Given the description of an element on the screen output the (x, y) to click on. 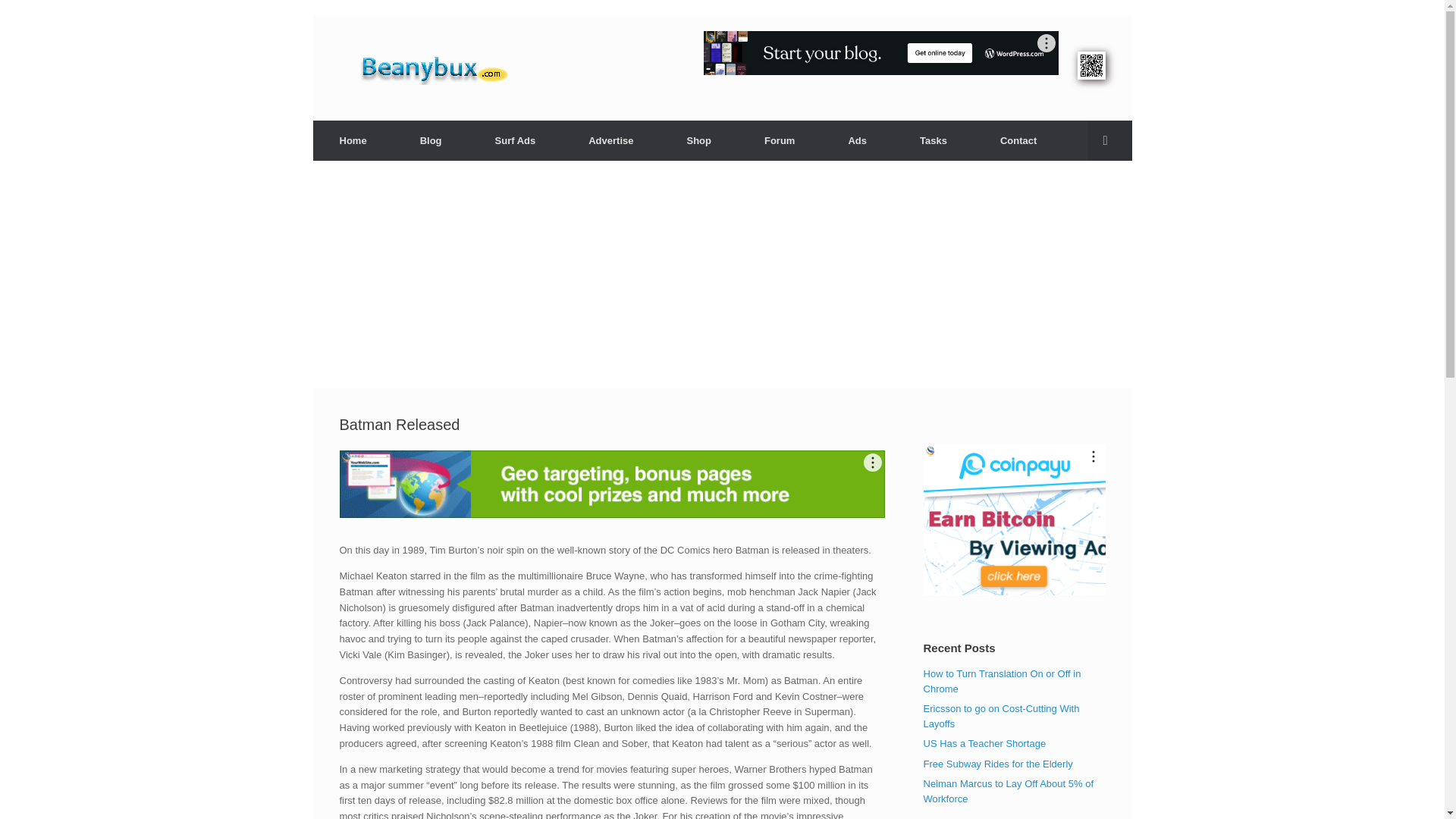
Shop (698, 139)
Tasks (933, 139)
Home (353, 139)
Beanybux.com (457, 67)
Contact (1018, 139)
Ads (857, 139)
Blog (430, 139)
Advertise (610, 139)
Forum (779, 139)
Surf Ads (515, 139)
